Given the description of an element on the screen output the (x, y) to click on. 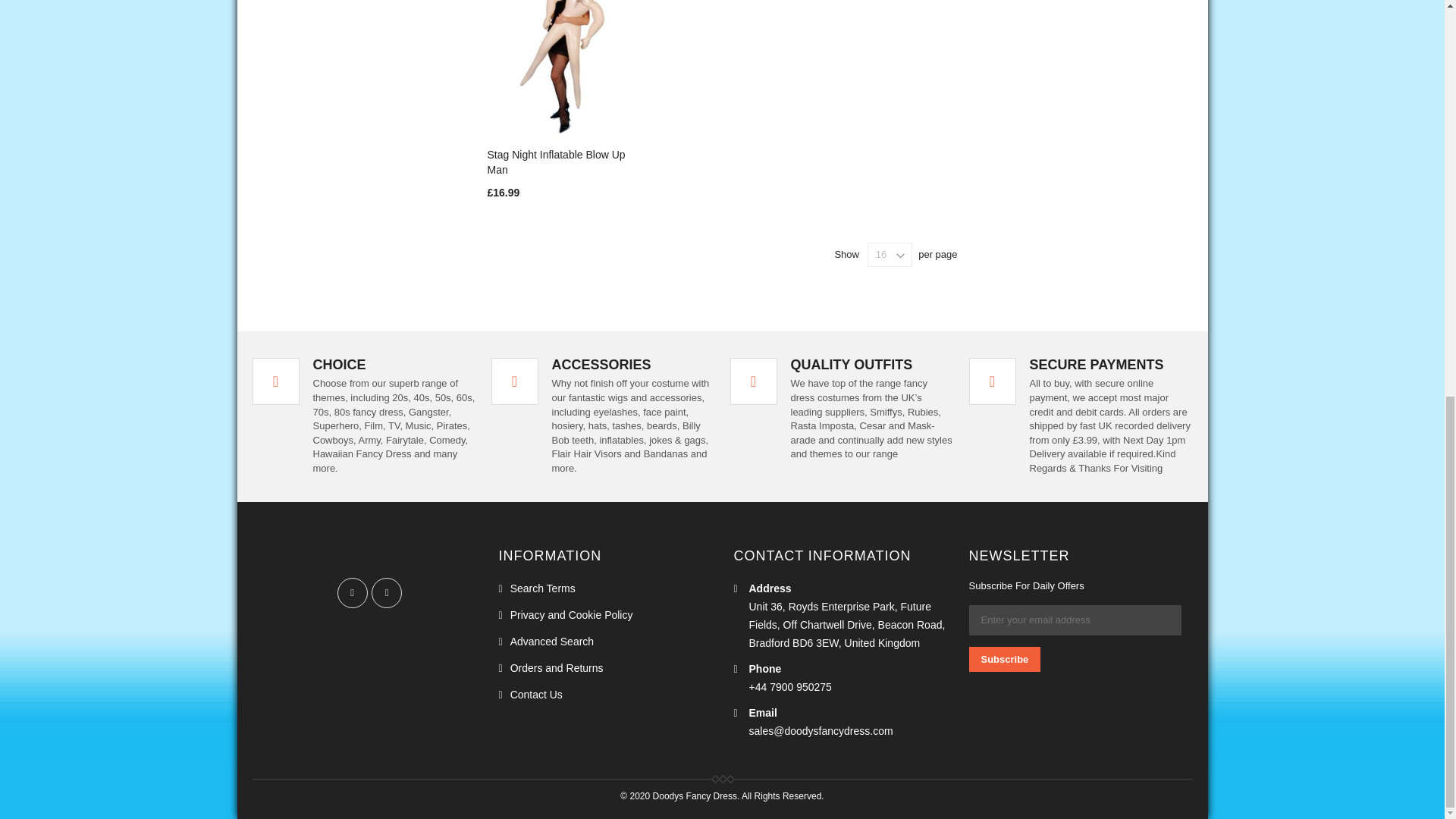
Subscribe (1005, 659)
